Given the description of an element on the screen output the (x, y) to click on. 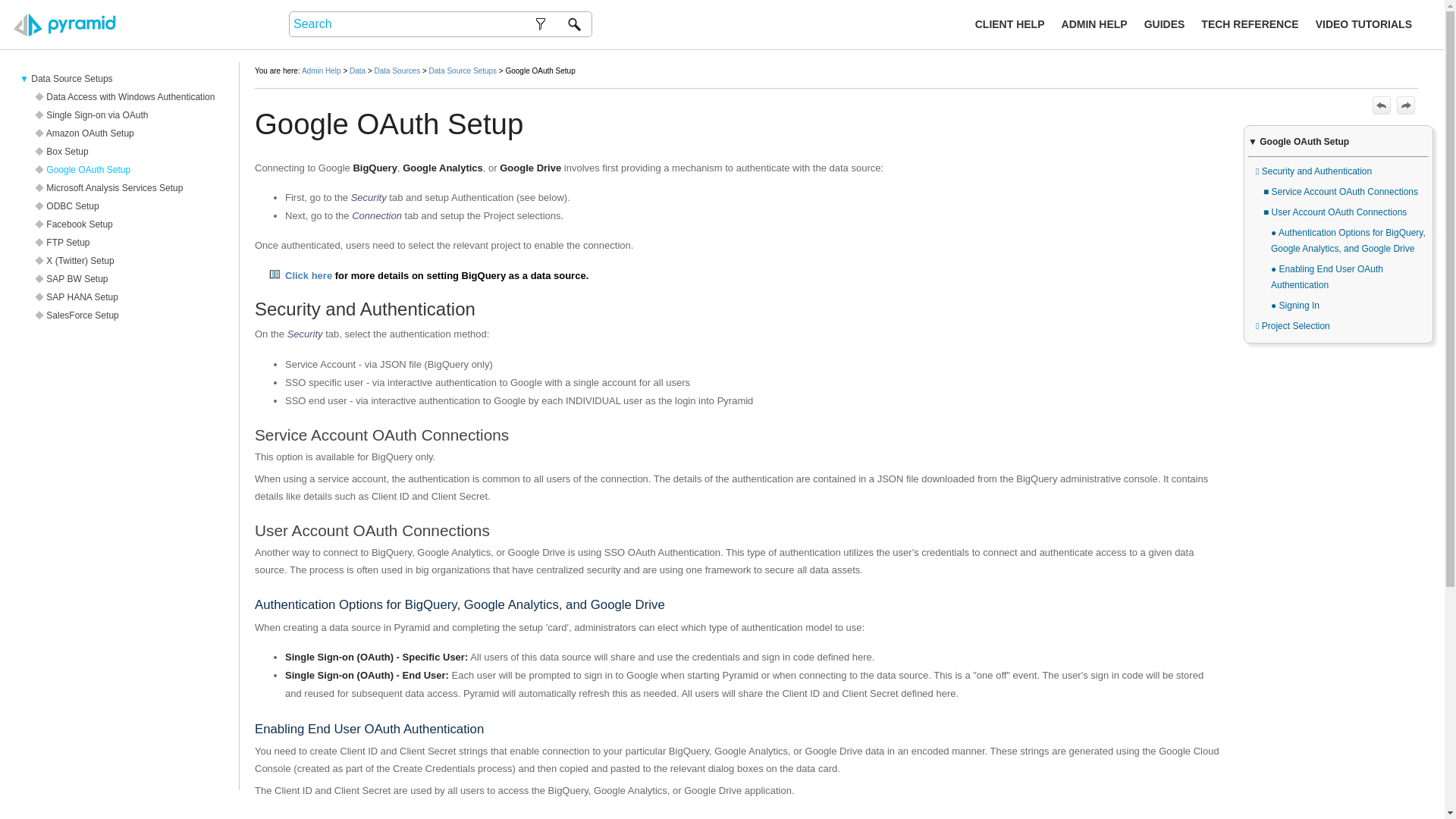
Search (574, 24)
ODBC Setup (125, 206)
Data Source Setups (125, 78)
Navigate previous (1381, 105)
SAP BW Setup (125, 279)
Facebook Setup (125, 224)
Microsoft Analysis Services Setup (125, 188)
Data Source Setups (463, 70)
Navigate next (1405, 105)
ADMIN HELP (1090, 24)
